Given the description of an element on the screen output the (x, y) to click on. 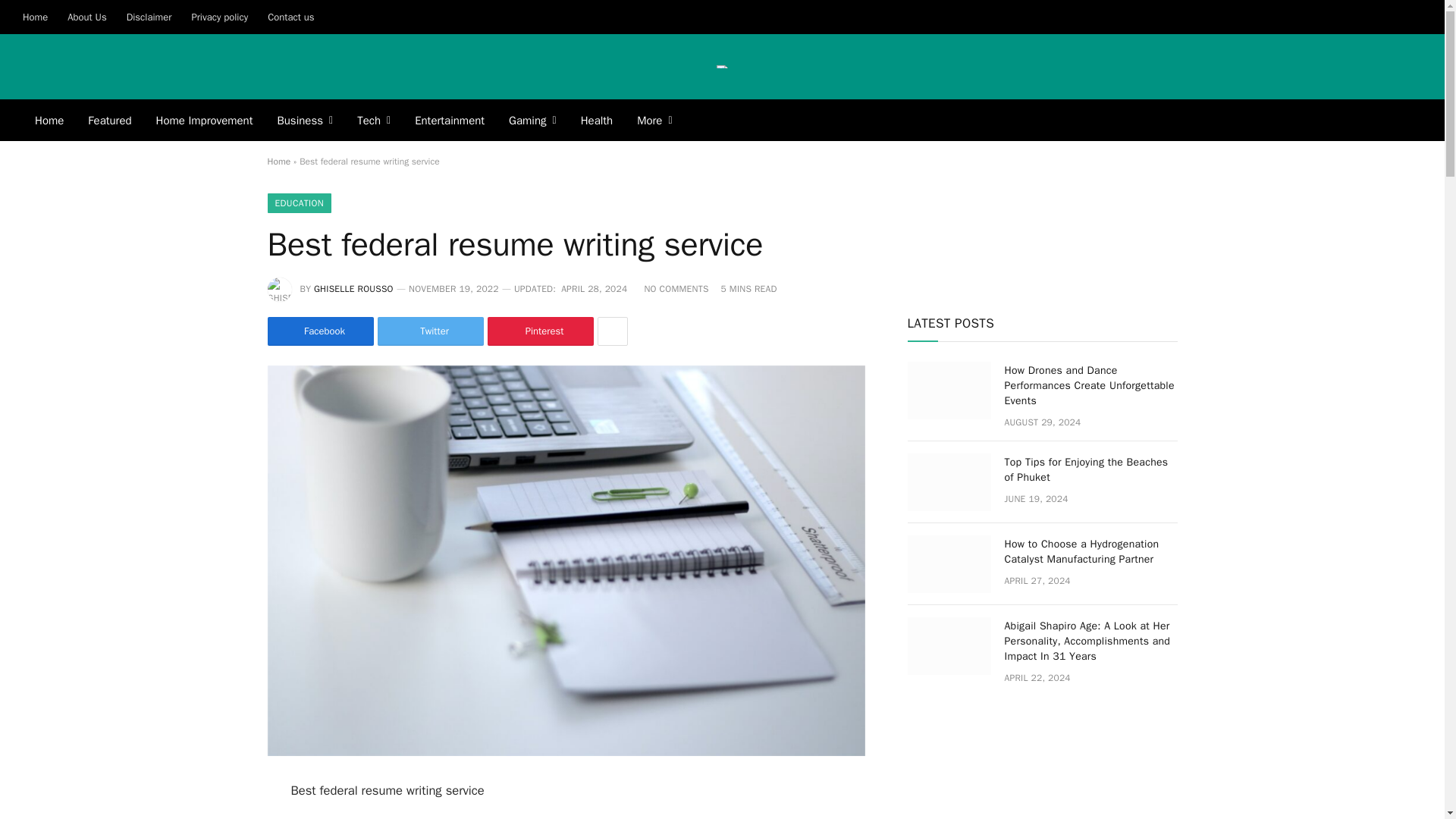
Gaming (532, 119)
Tech (374, 119)
About Us (87, 17)
Home (49, 119)
More (654, 119)
Posts by ghiselle rousso (353, 288)
Health (597, 119)
Privacy policy (218, 17)
Share on Facebook (319, 330)
Home Improvement (204, 119)
